Given the description of an element on the screen output the (x, y) to click on. 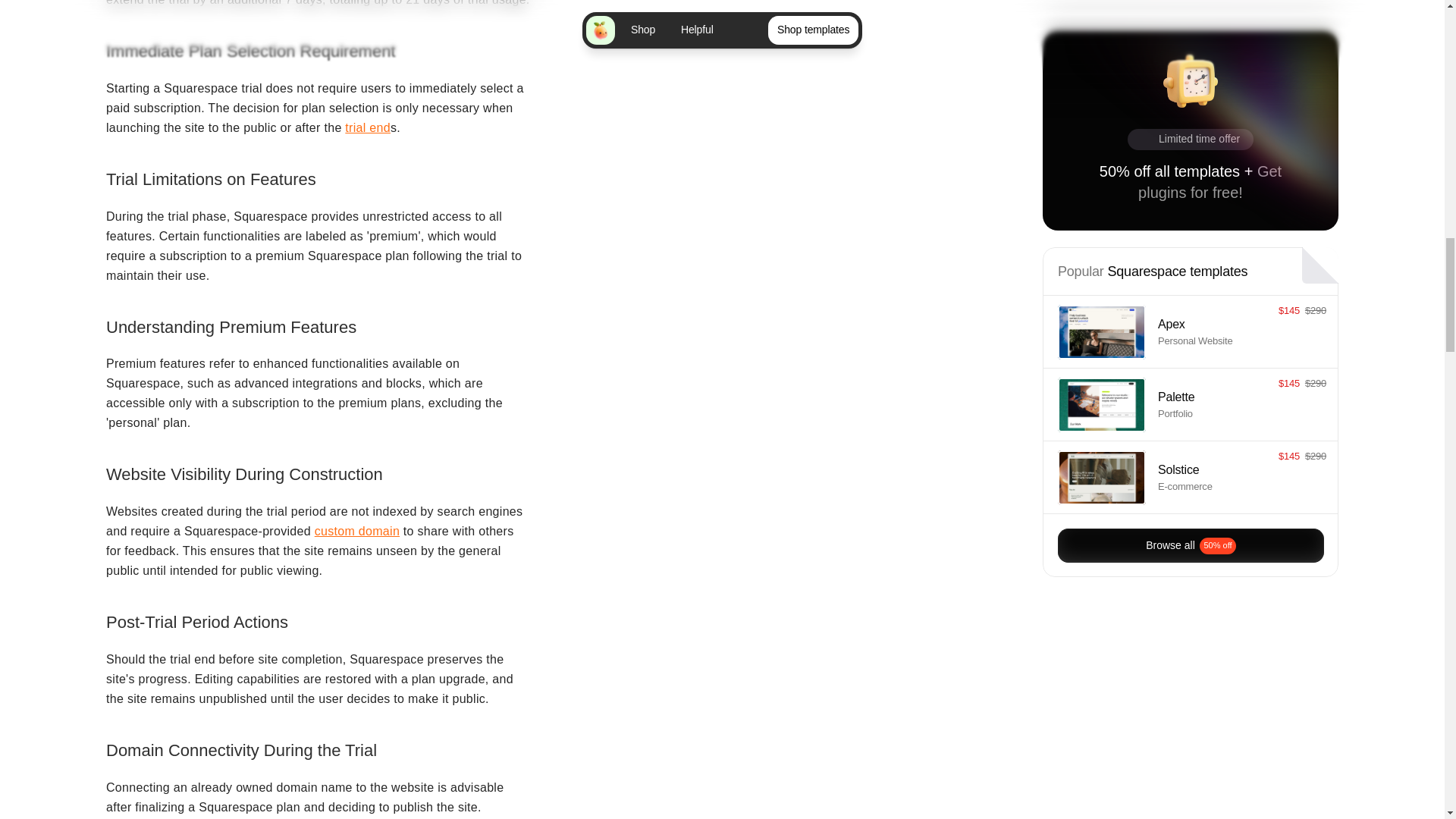
custom domain (356, 530)
trial end (367, 127)
